Given the description of an element on the screen output the (x, y) to click on. 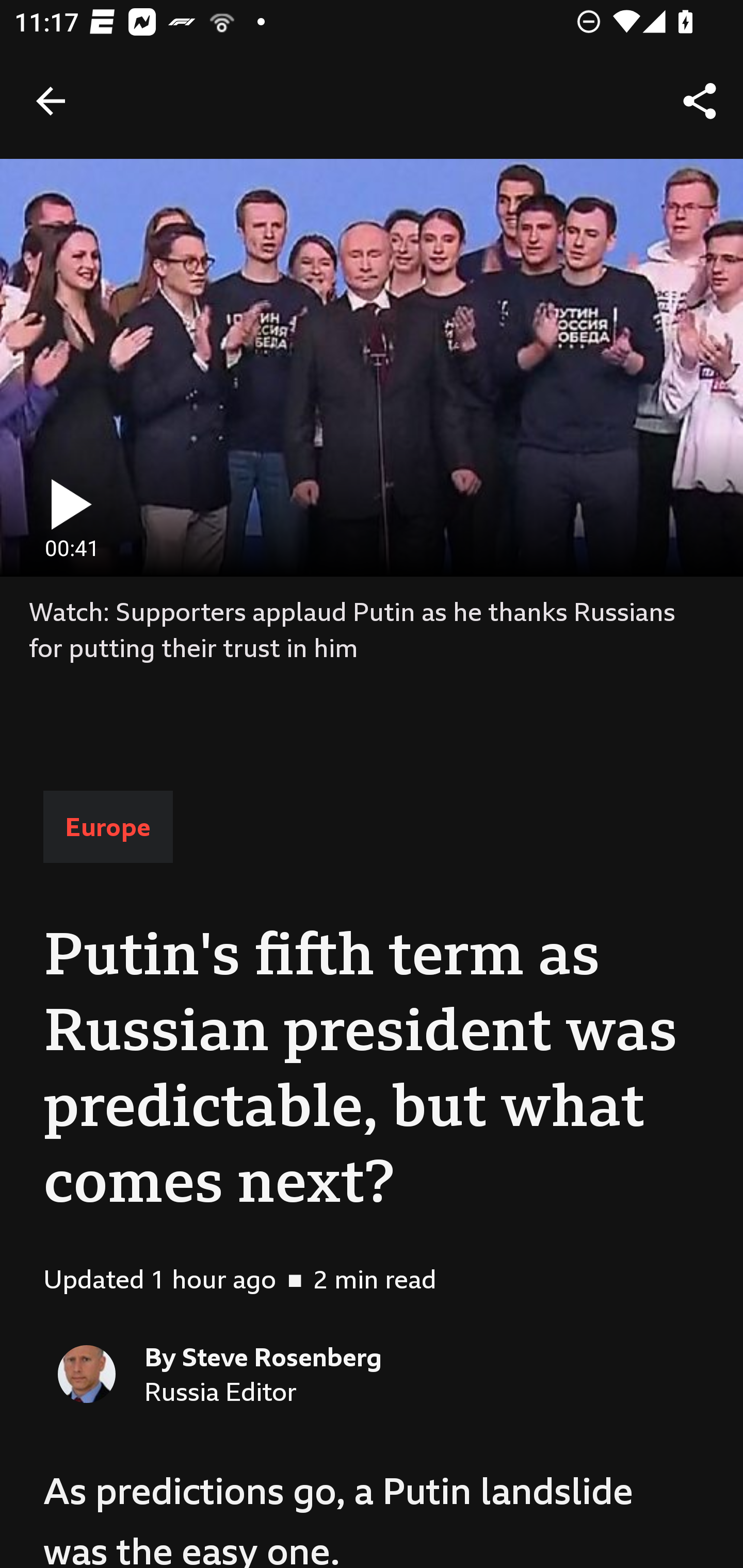
Back (50, 101)
Share (699, 101)
play fullscreen 00:41 0 minutes, 41 seconds (371, 367)
Europe (108, 827)
